Given the description of an element on the screen output the (x, y) to click on. 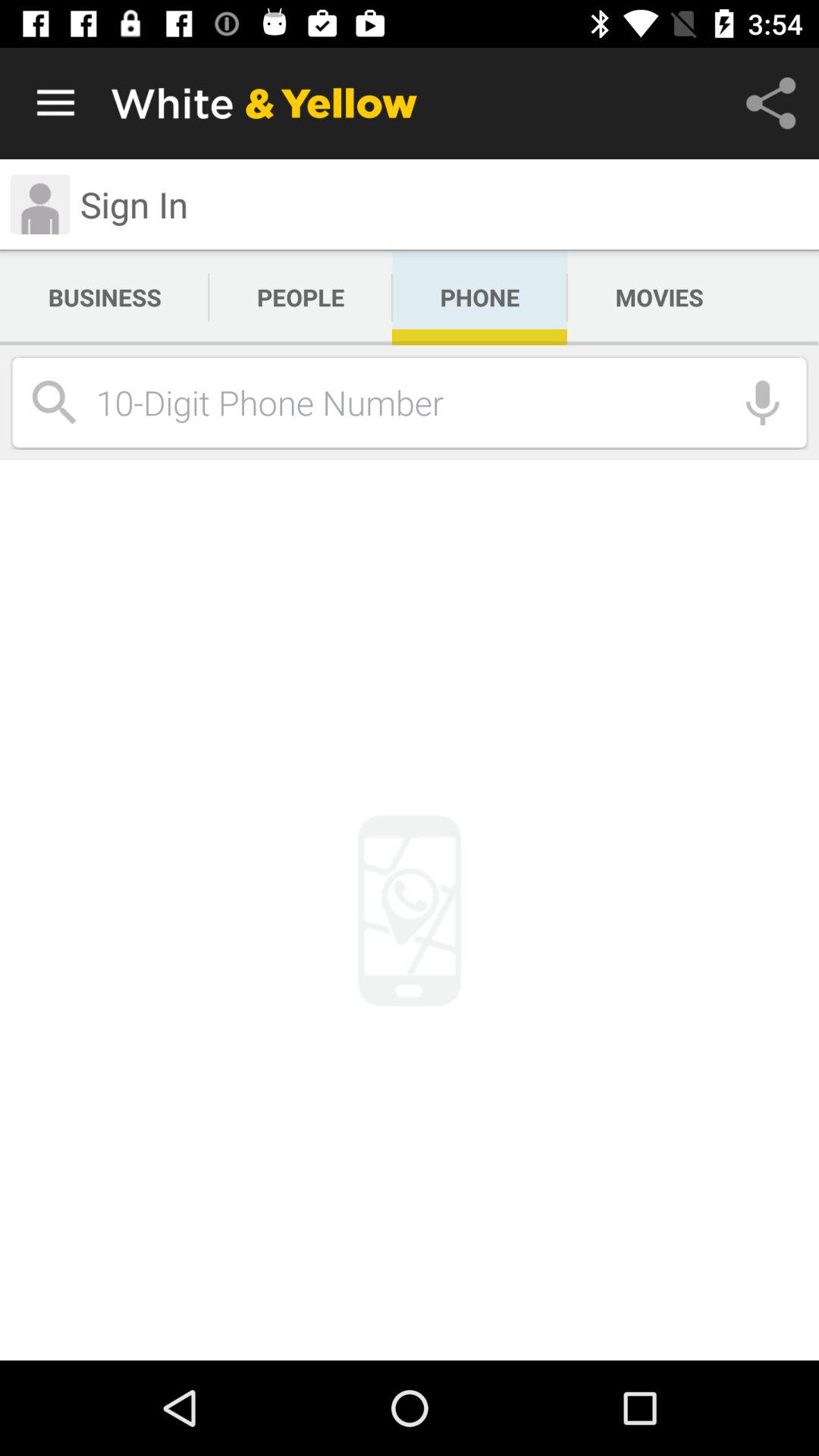
open the people app (300, 297)
